Given the description of an element on the screen output the (x, y) to click on. 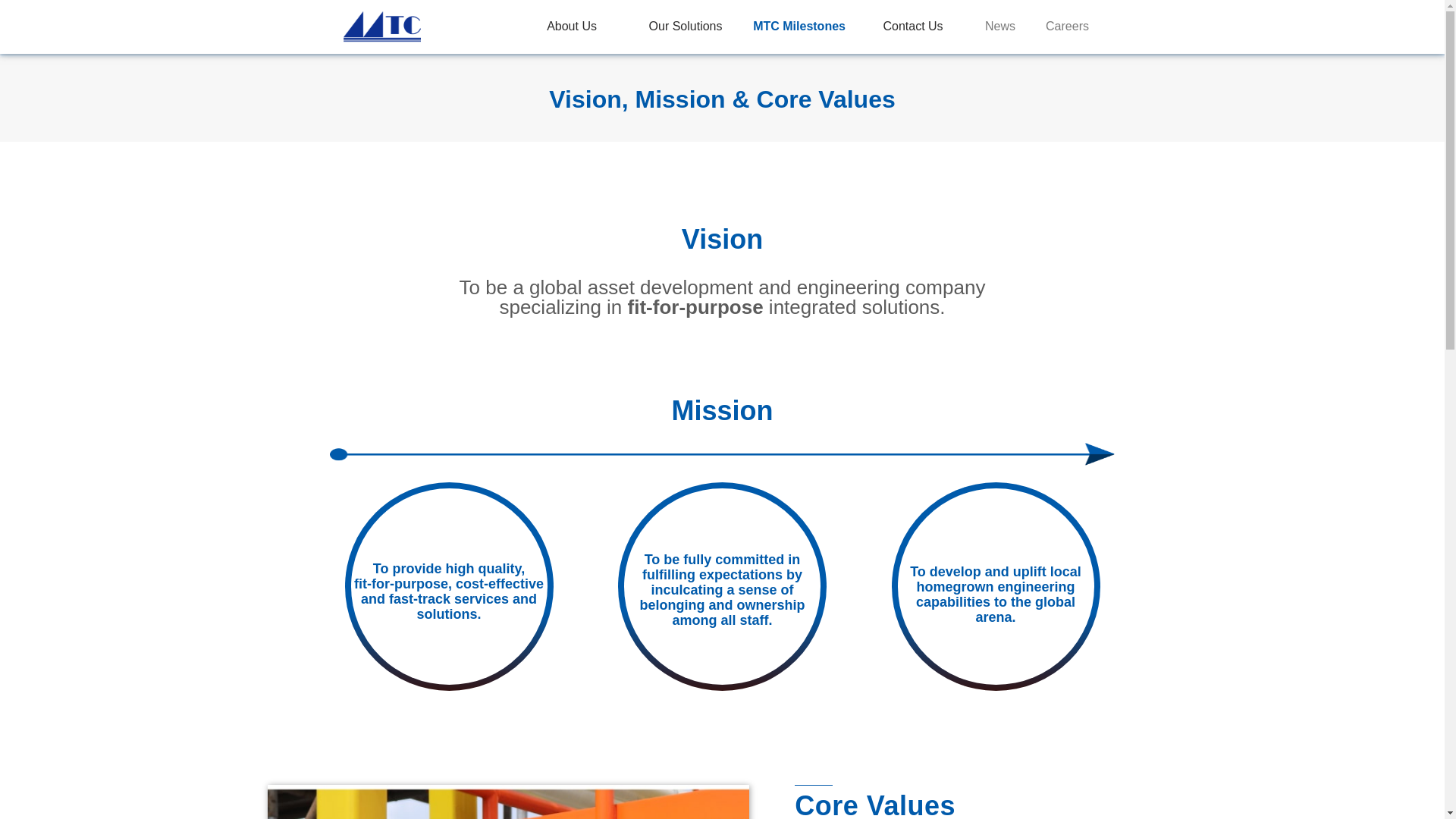
News (999, 27)
Our Solutions (685, 27)
Careers (1066, 27)
MTC Milestones (799, 27)
About Us (571, 27)
Contact Us (912, 27)
